Given the description of an element on the screen output the (x, y) to click on. 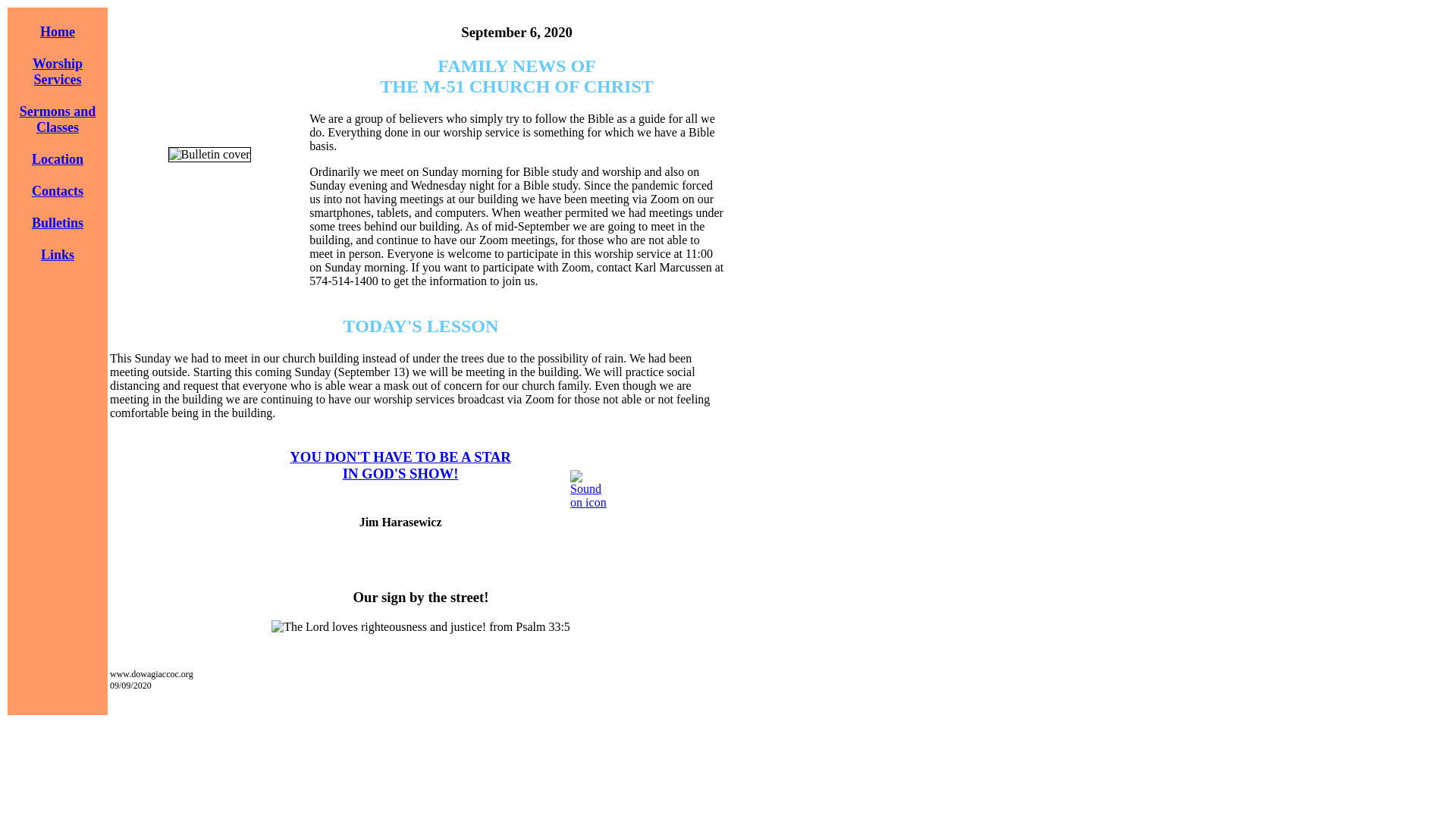
Bulletins (57, 222)
Location (57, 159)
Contacts (57, 191)
Links (57, 254)
Worship Services (400, 464)
Sermons and Classes (57, 71)
Home (58, 119)
